Given the description of an element on the screen output the (x, y) to click on. 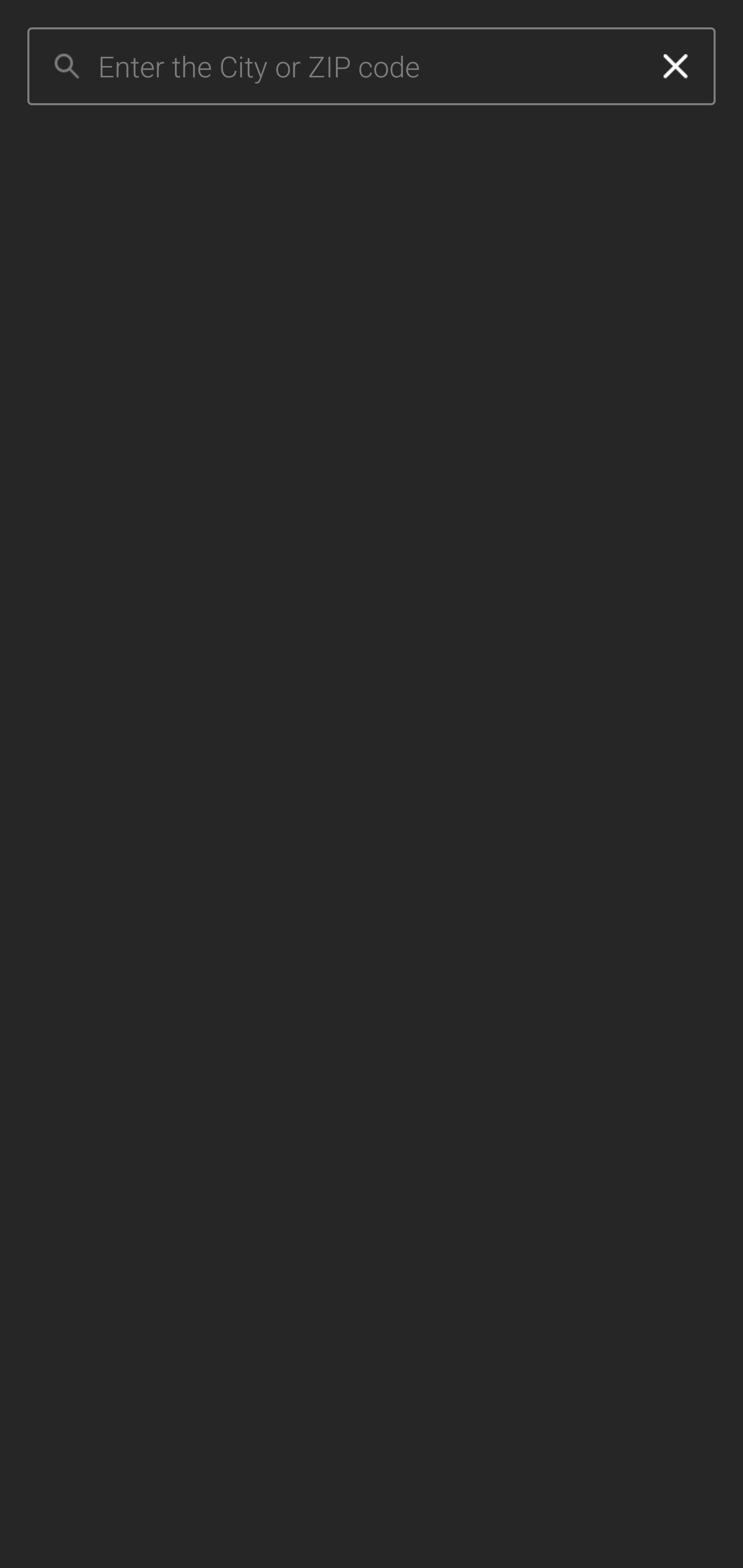
Enter the City or ZIP code (367, 66)
